Given the description of an element on the screen output the (x, y) to click on. 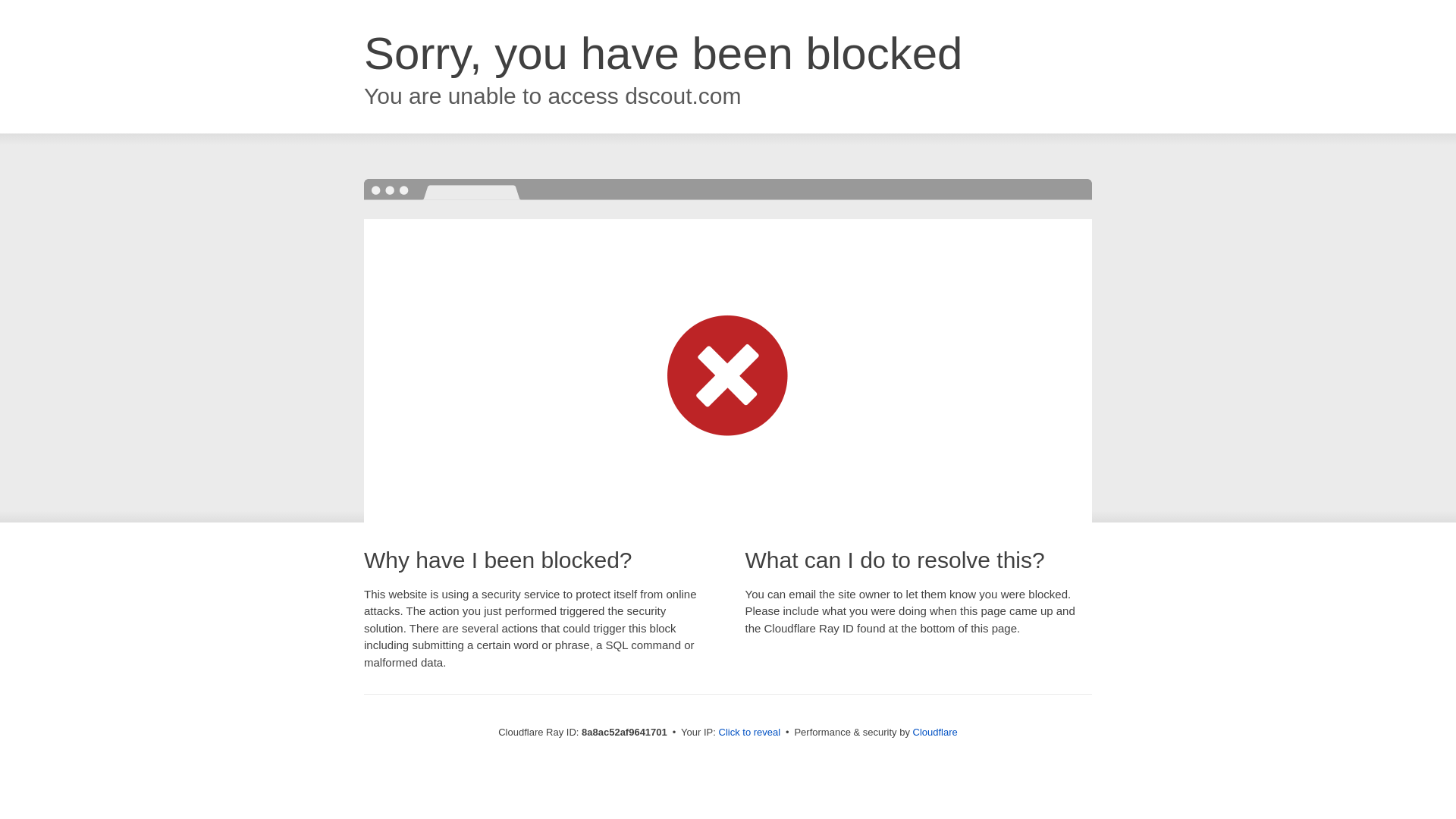
Click to reveal (749, 732)
Cloudflare (935, 731)
